Given the description of an element on the screen output the (x, y) to click on. 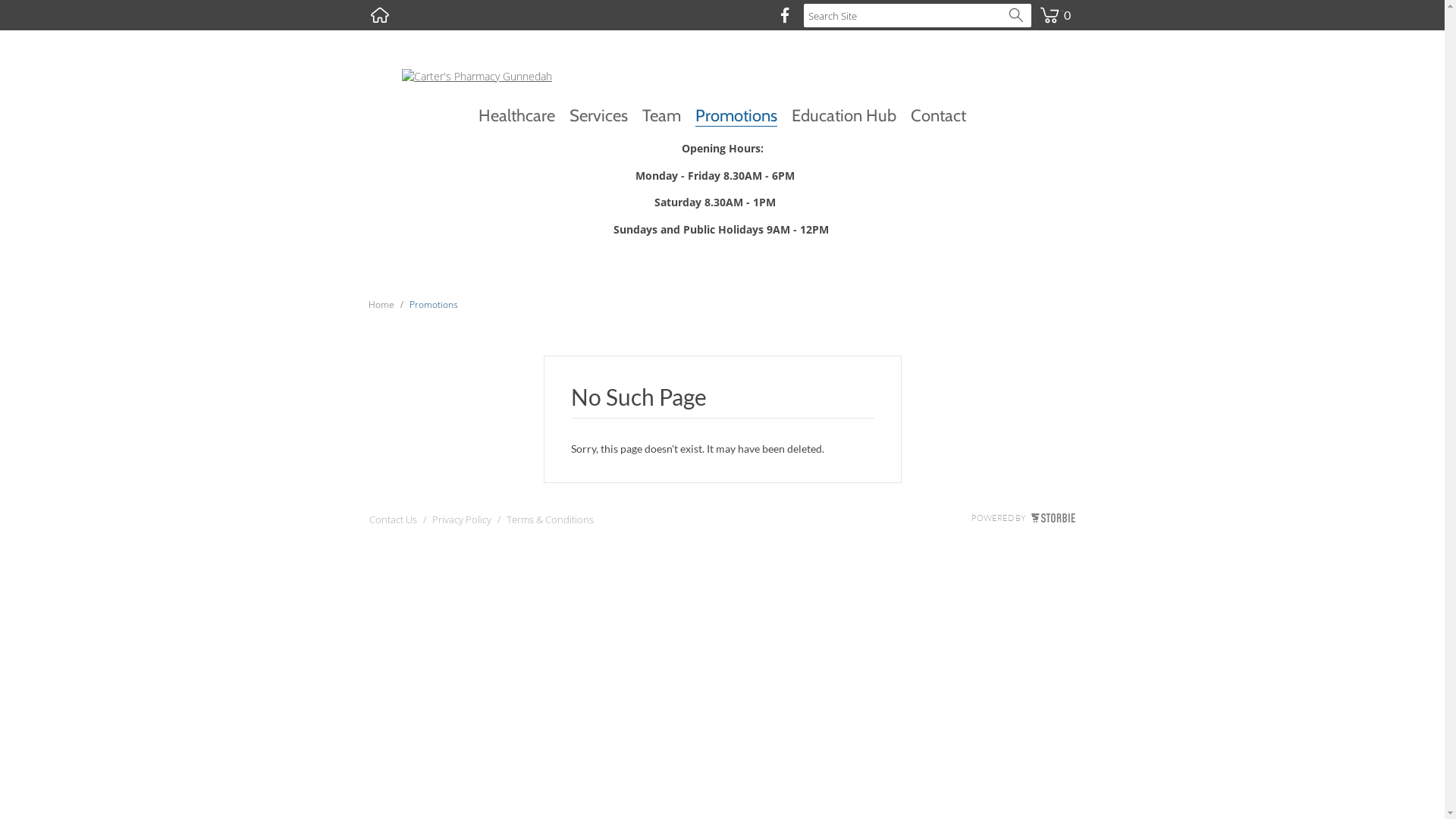
Healthcare Element type: text (515, 115)
  Element type: text (379, 15)
Terms & Conditions Element type: text (549, 522)
Services Element type: text (597, 115)
Contact Element type: text (937, 115)
  0 Element type: text (1054, 6)
Team Element type: text (660, 115)
Contact Us Element type: text (392, 522)
Promotions Element type: text (433, 304)
Promotions Element type: text (735, 115)
Facebook Element type: hover (783, 15)
Privacy Policy Element type: text (461, 522)
Home Element type: text (381, 304)
Education Hub Element type: text (843, 115)
POWERED BY Element type: text (1022, 517)
Home Element type: hover (379, 15)
